Given the description of an element on the screen output the (x, y) to click on. 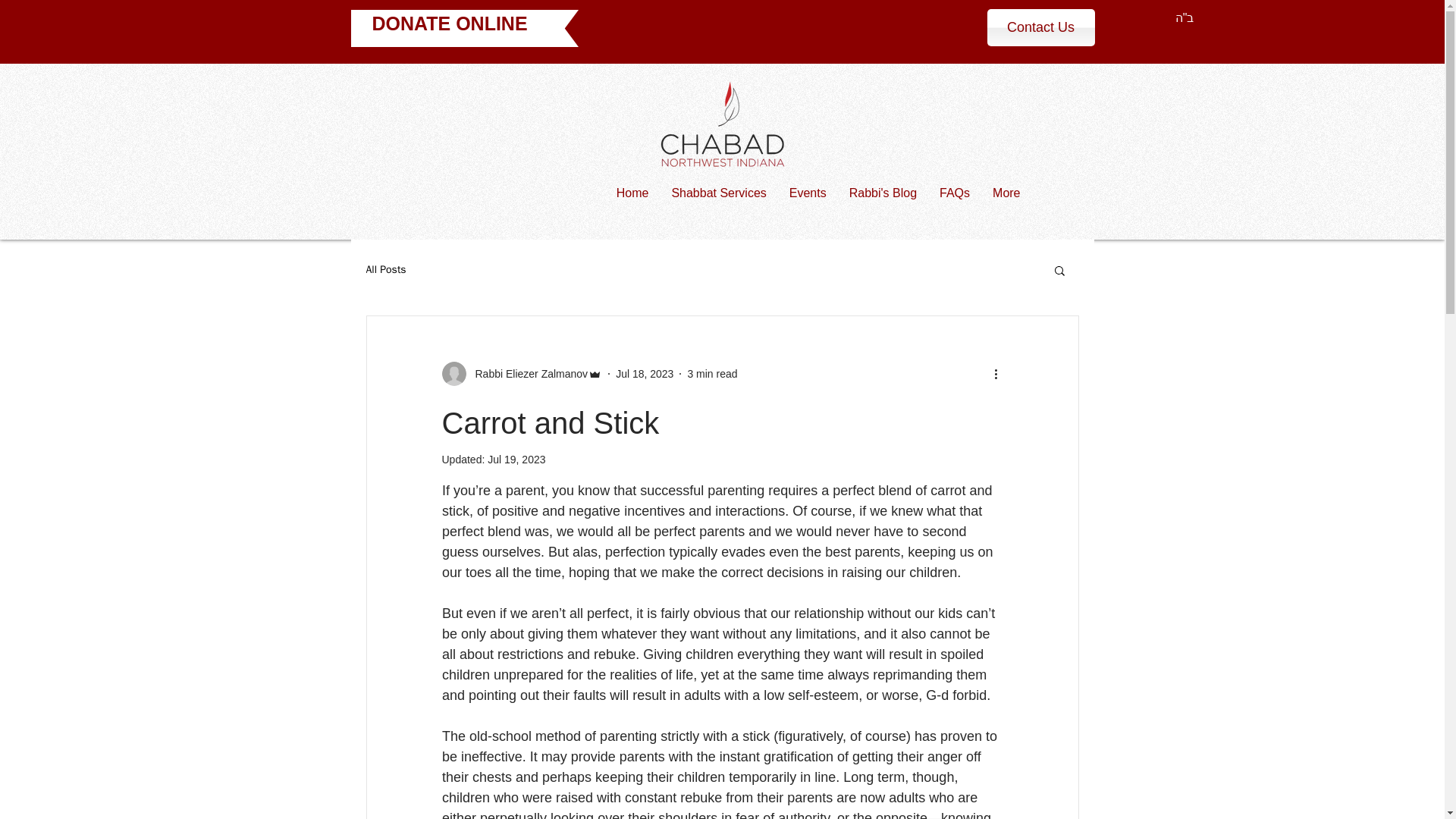
3 min read (711, 372)
Jul 18, 2023 (643, 372)
FAQs (954, 205)
Contact Us (1040, 27)
Rabbi Eliezer Zalmanov (526, 373)
Home (633, 205)
DONATE ONLINE (449, 23)
All Posts (385, 269)
Rabbi Eliezer Zalmanov (521, 373)
Shabbat Services (718, 205)
